Given the description of an element on the screen output the (x, y) to click on. 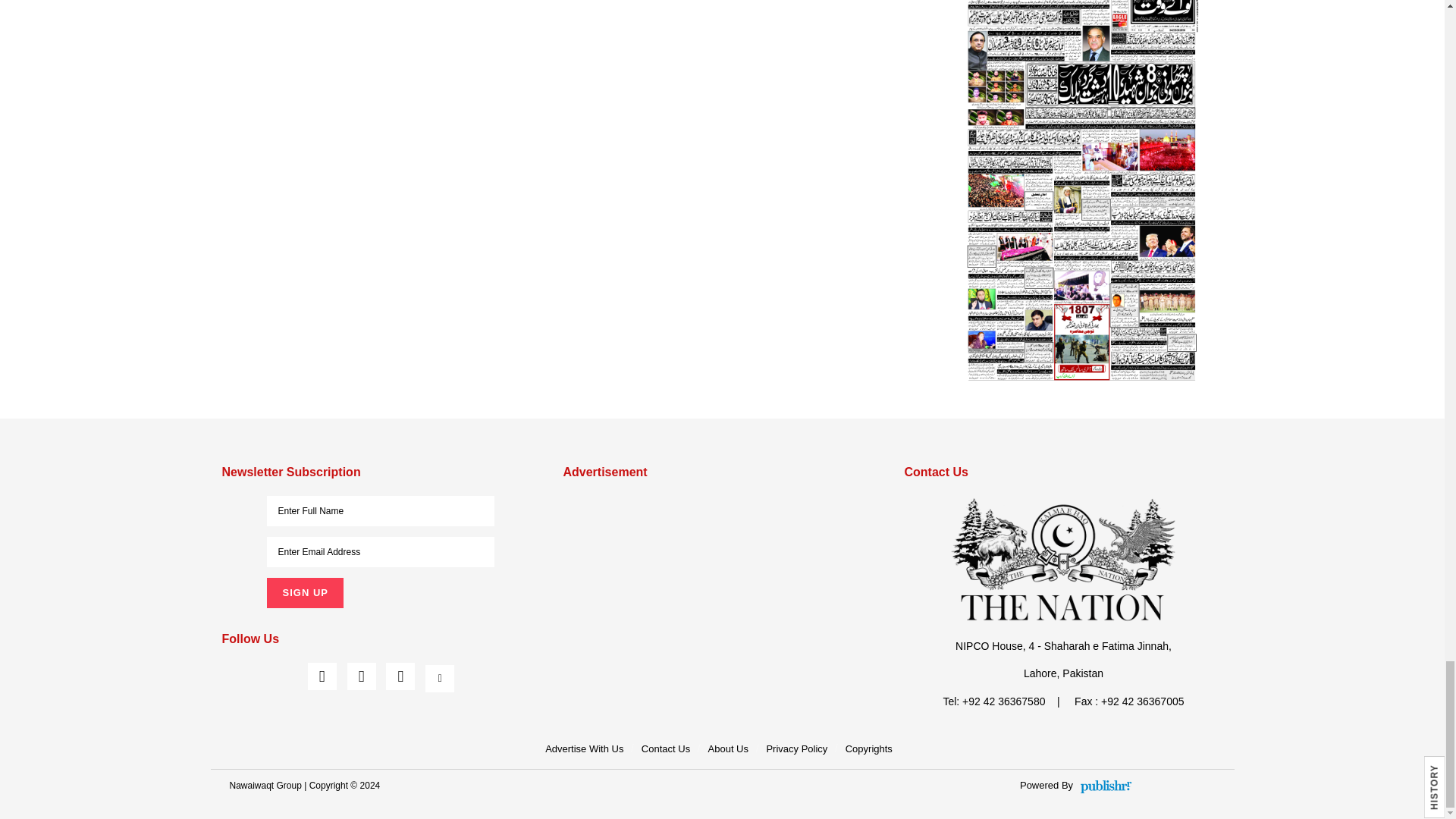
Sign up (304, 593)
